Given the description of an element on the screen output the (x, y) to click on. 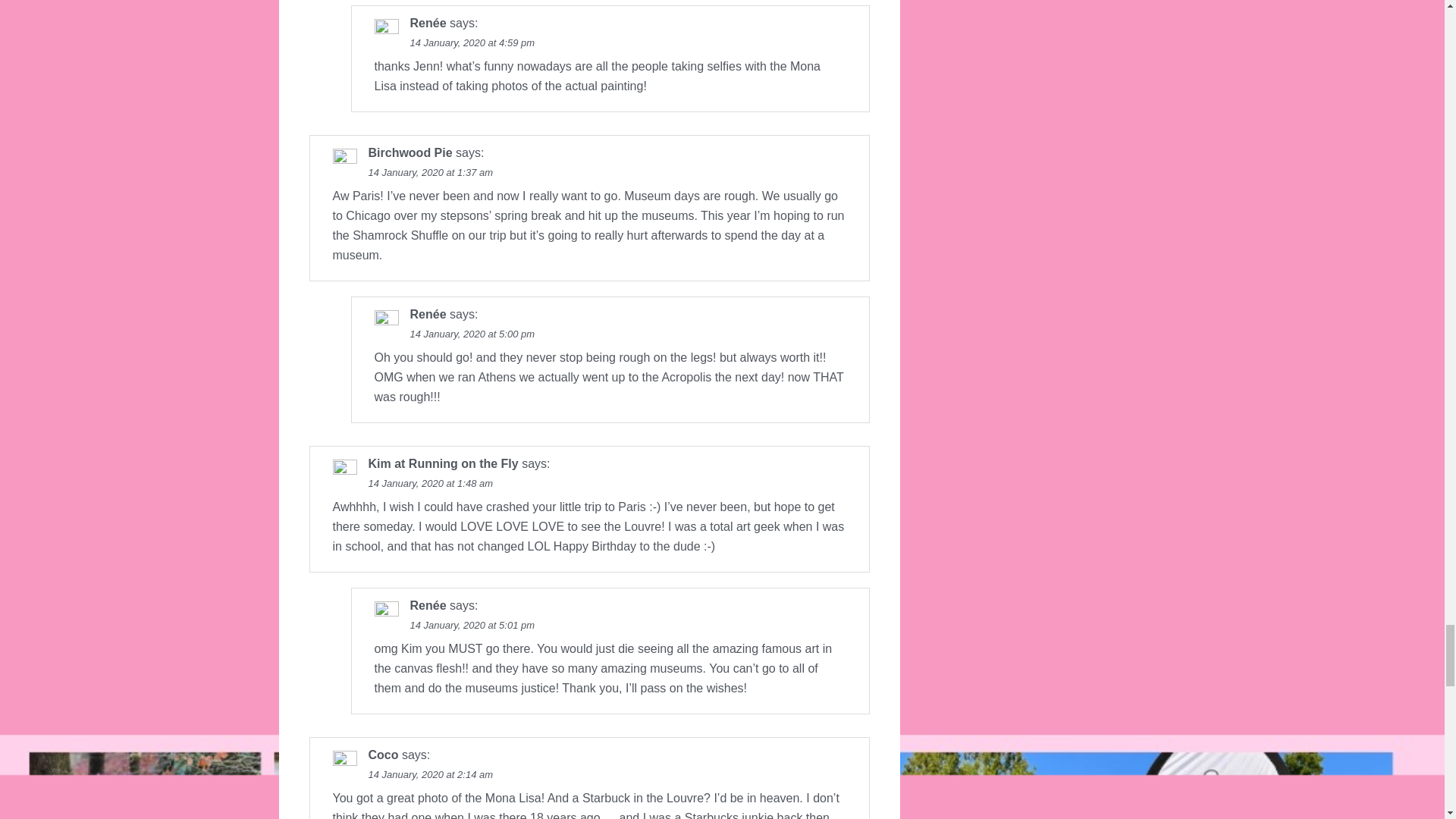
14 January, 2020 at 5:00 pm (471, 333)
14 January, 2020 at 4:59 pm (471, 42)
14 January, 2020 at 1:48 am (430, 482)
14 January, 2020 at 1:37 am (430, 172)
14 January, 2020 at 5:01 pm (471, 624)
